Given the description of an element on the screen output the (x, y) to click on. 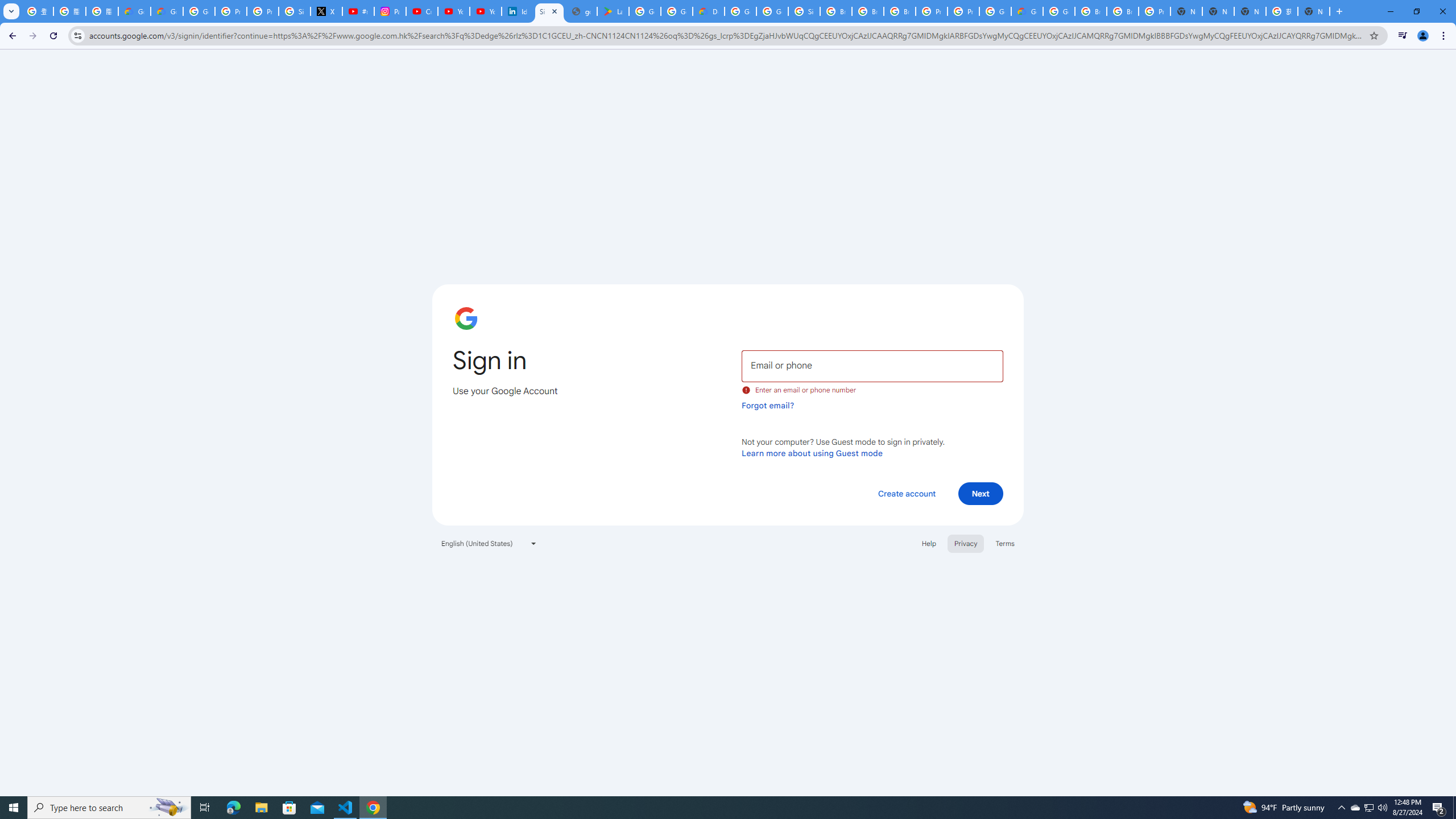
Last Shelter: Survival - Apps on Google Play (613, 11)
Email or phone (871, 365)
Browse Chrome as a guest - Computer - Google Chrome Help (1091, 11)
YouTube Culture & Trends - YouTube Top 10, 2021 (485, 11)
Privacy Help Center - Policies Help (230, 11)
